Given the description of an element on the screen output the (x, y) to click on. 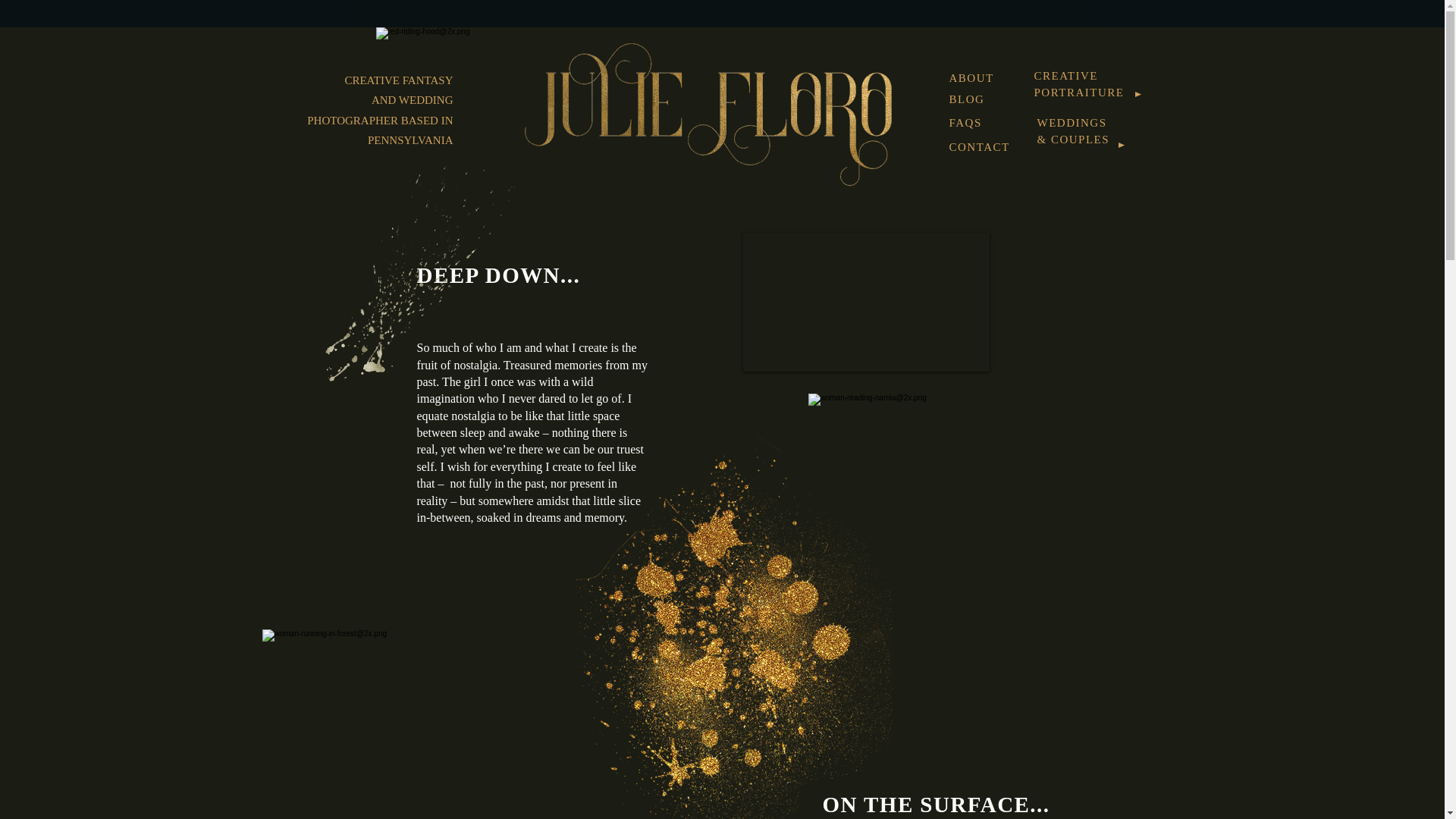
FAQS (965, 122)
ABOUT (971, 77)
BLOG (967, 98)
CONTACT (979, 146)
CREATIVE PORTRAITURE (1078, 83)
Log In (1018, 57)
